Given the description of an element on the screen output the (x, y) to click on. 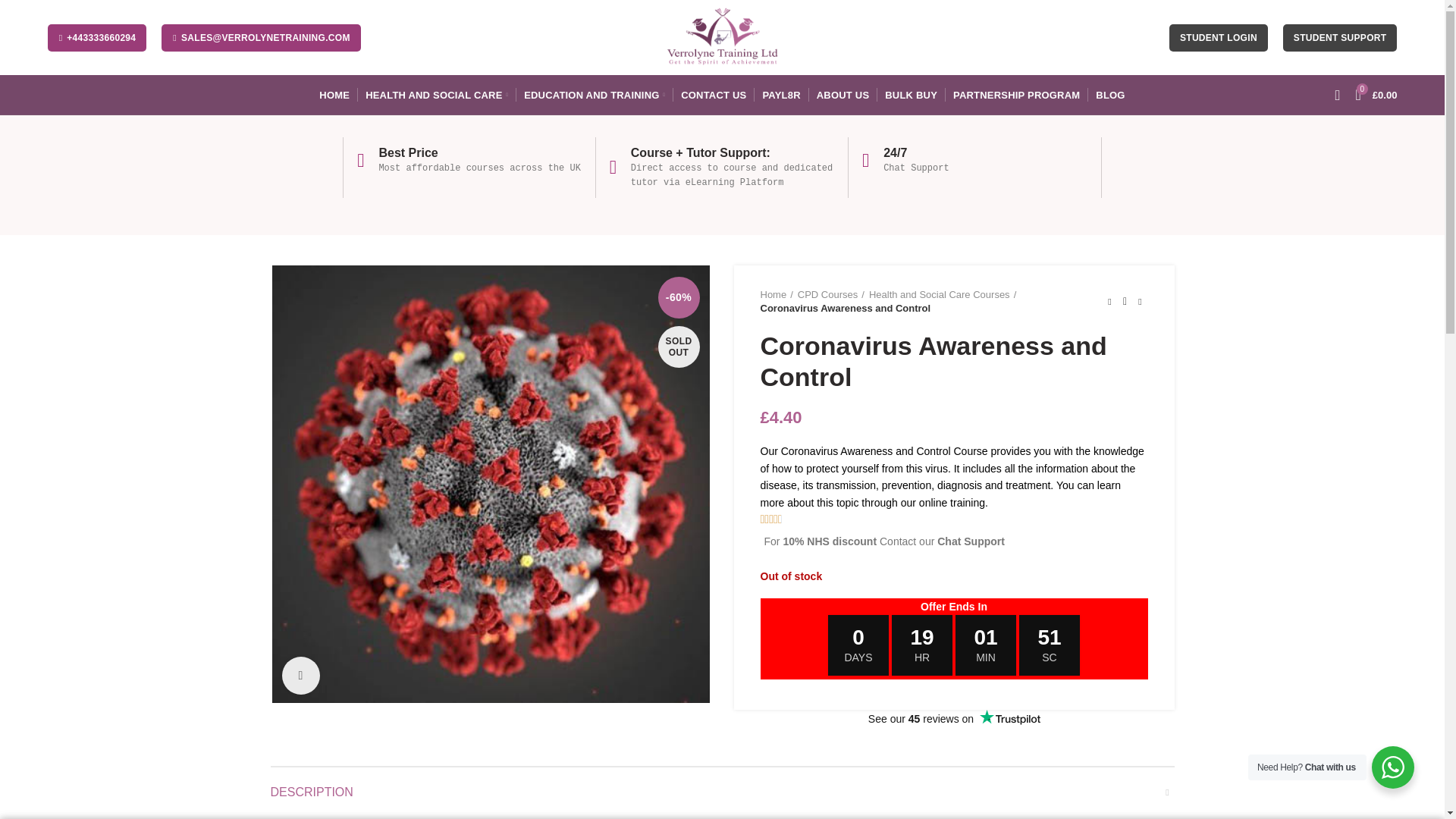
STUDENT SUPPORT (1339, 37)
STUDENT LOGIN (1218, 37)
Customer reviews powered by Trustpilot (953, 719)
EDUCATION AND TRAINING (594, 94)
PARTNERSHIP PROGRAM (1015, 94)
HEALTH AND SOCIAL CARE (436, 94)
ABOUT US (843, 94)
Home (776, 295)
Previous product (1110, 301)
CONTACT US (713, 94)
Health and Social Care Courses (942, 295)
HOME (333, 94)
Shopping cart (1376, 94)
BULK BUY (910, 94)
